Given the description of an element on the screen output the (x, y) to click on. 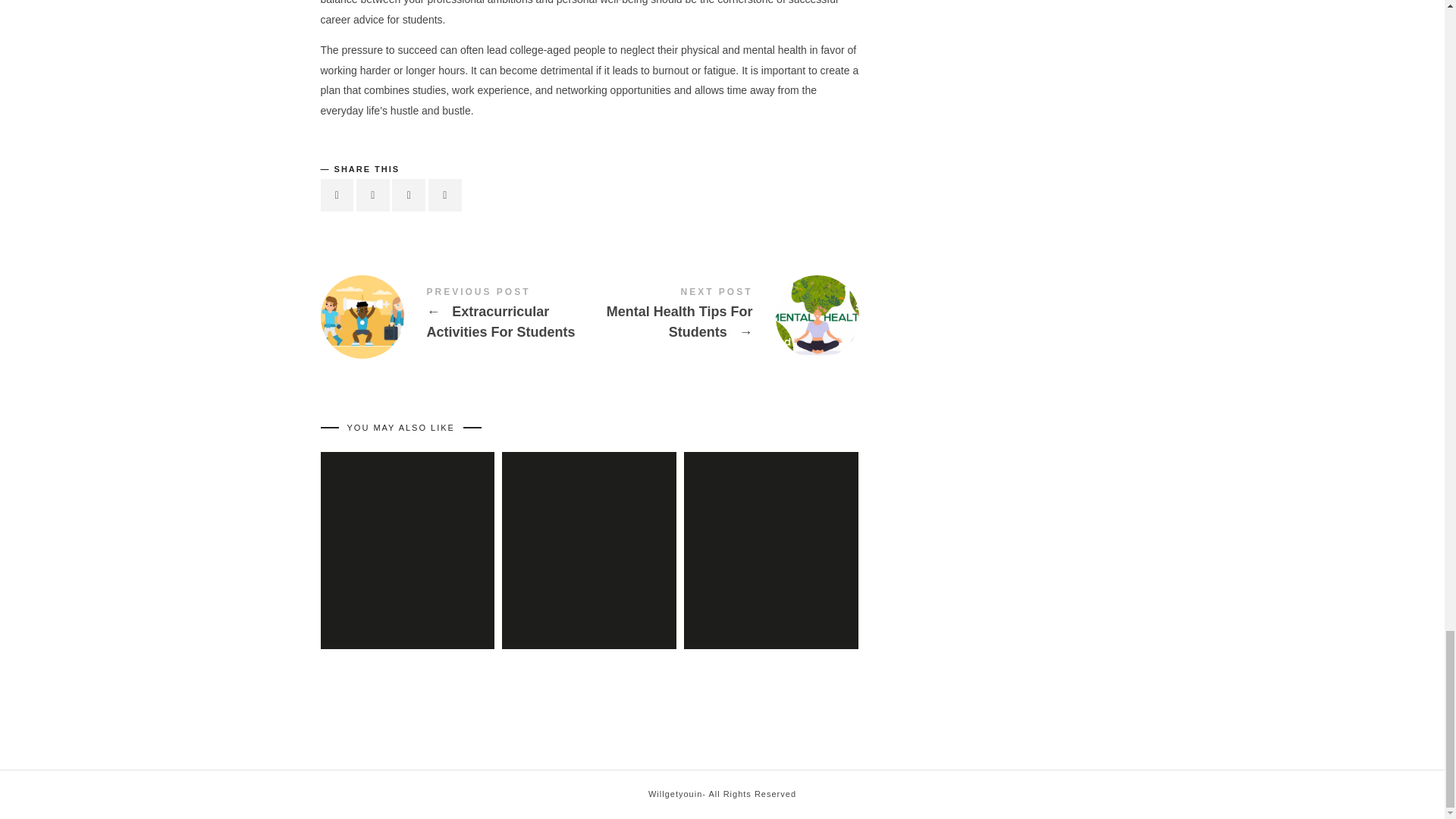
Tweet this post to your followers (373, 195)
Share this post on Facebook (336, 195)
Pin it (408, 195)
Email this post to a friend (444, 195)
